Given the description of an element on the screen output the (x, y) to click on. 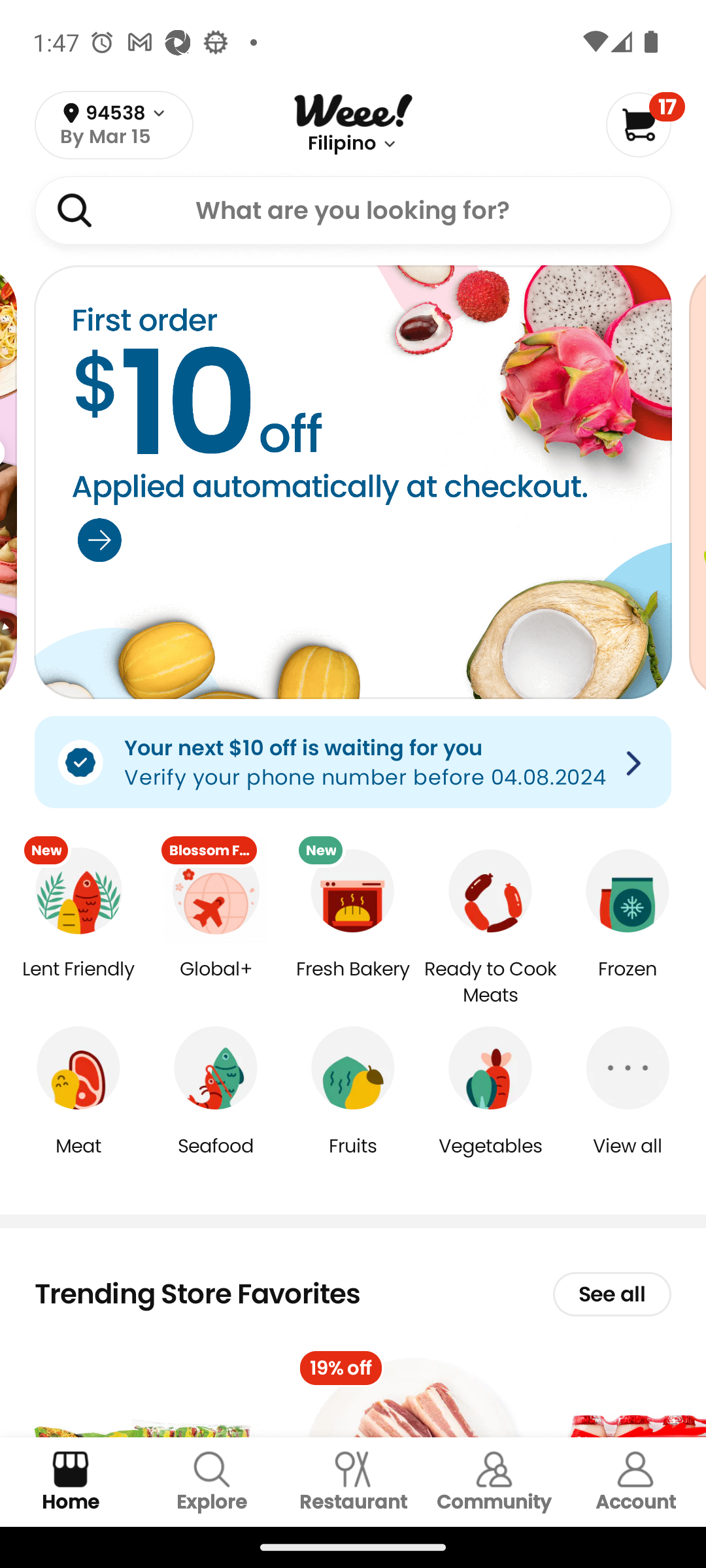
94538 By Mar 15 (113, 124)
17 (644, 124)
Filipino (341, 143)
What are you looking for? (352, 209)
Lent Friendly (77, 982)
Global+ (215, 982)
Fresh Bakery (352, 982)
Ready to Cook Meats (490, 982)
Frozen (627, 982)
Meat (77, 1159)
Seafood (215, 1159)
Fruits (352, 1159)
Vegetables (490, 1159)
View all (627, 1159)
Home (70, 1482)
Explore (211, 1482)
Restaurant (352, 1482)
Community (493, 1482)
Account (635, 1482)
